Given the description of an element on the screen output the (x, y) to click on. 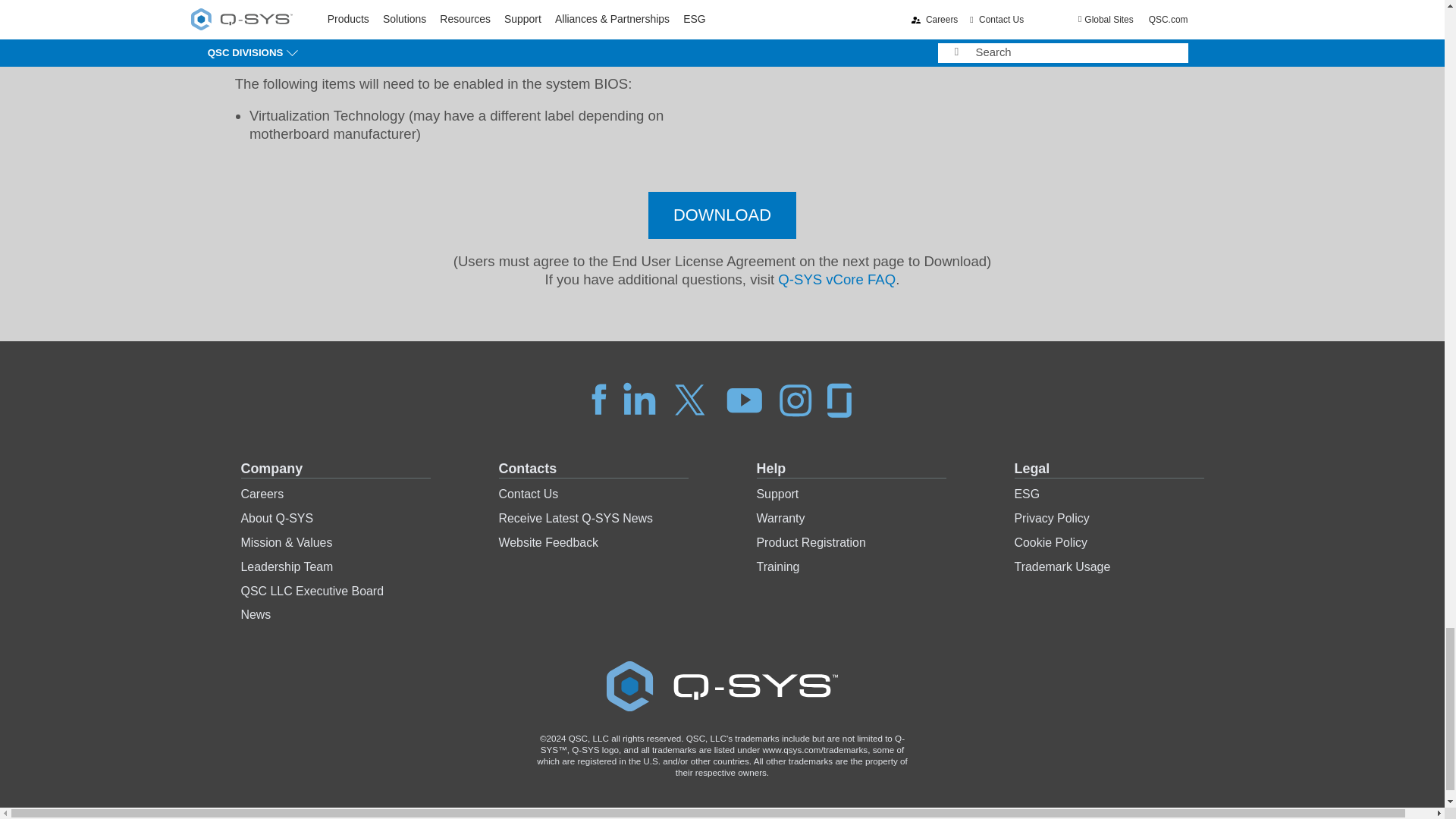
Twitter logo (690, 399)
YouTube logo (744, 399)
LinkedIn logo (638, 399)
Q-SYS logo (722, 685)
Instagram logo (795, 399)
